Given the description of an element on the screen output the (x, y) to click on. 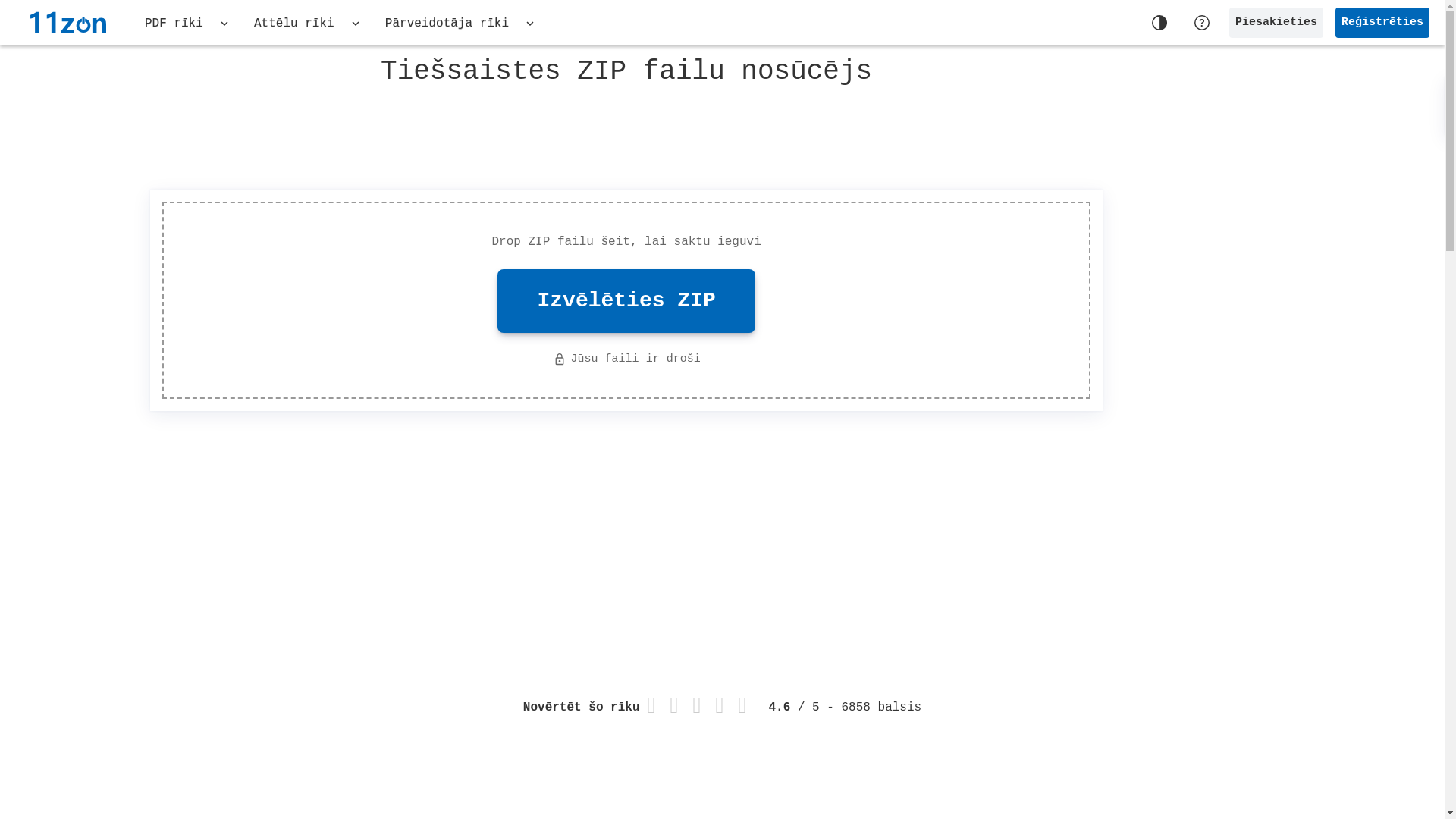
Advertisement Element type: hover (263, 520)
Advertisement Element type: hover (626, 134)
Advertisement Element type: hover (974, 532)
Piesakieties Element type: text (1276, 22)
Advertisement Element type: hover (1279, 287)
